Given the description of an element on the screen output the (x, y) to click on. 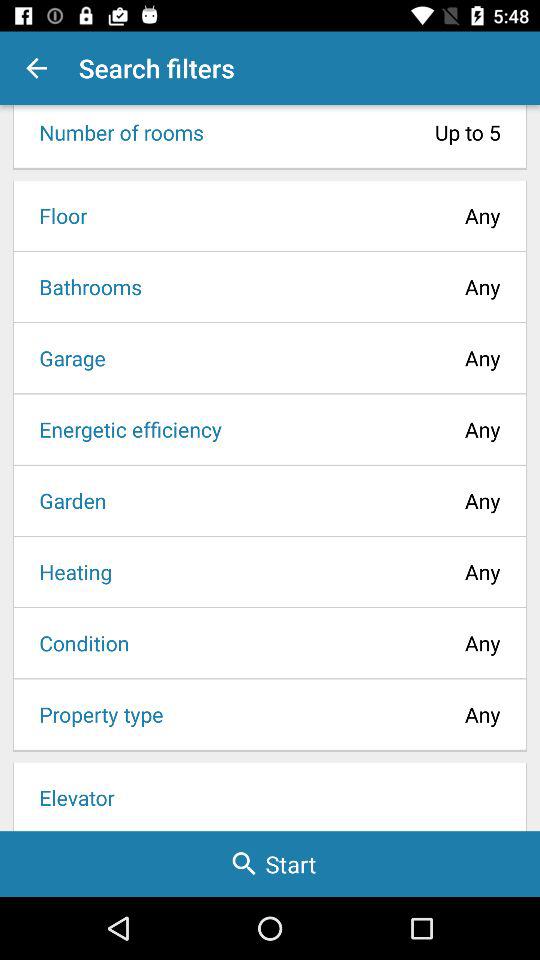
tap item to the left of search filters item (36, 68)
